Given the description of an element on the screen output the (x, y) to click on. 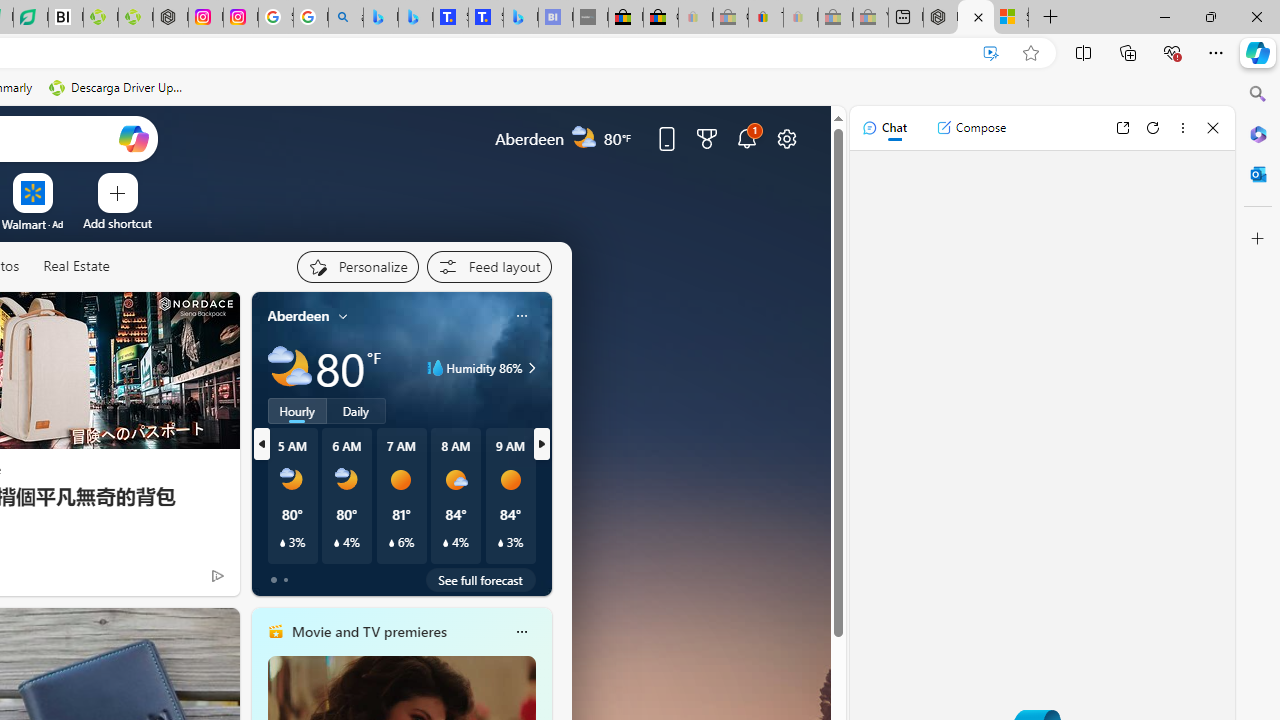
Page settings (786, 138)
Threats and offensive language policy | eBay (765, 17)
Add a site (117, 223)
Microsoft Bing Travel - Flights from Hong Kong to Bangkok (380, 17)
